Given the description of an element on the screen output the (x, y) to click on. 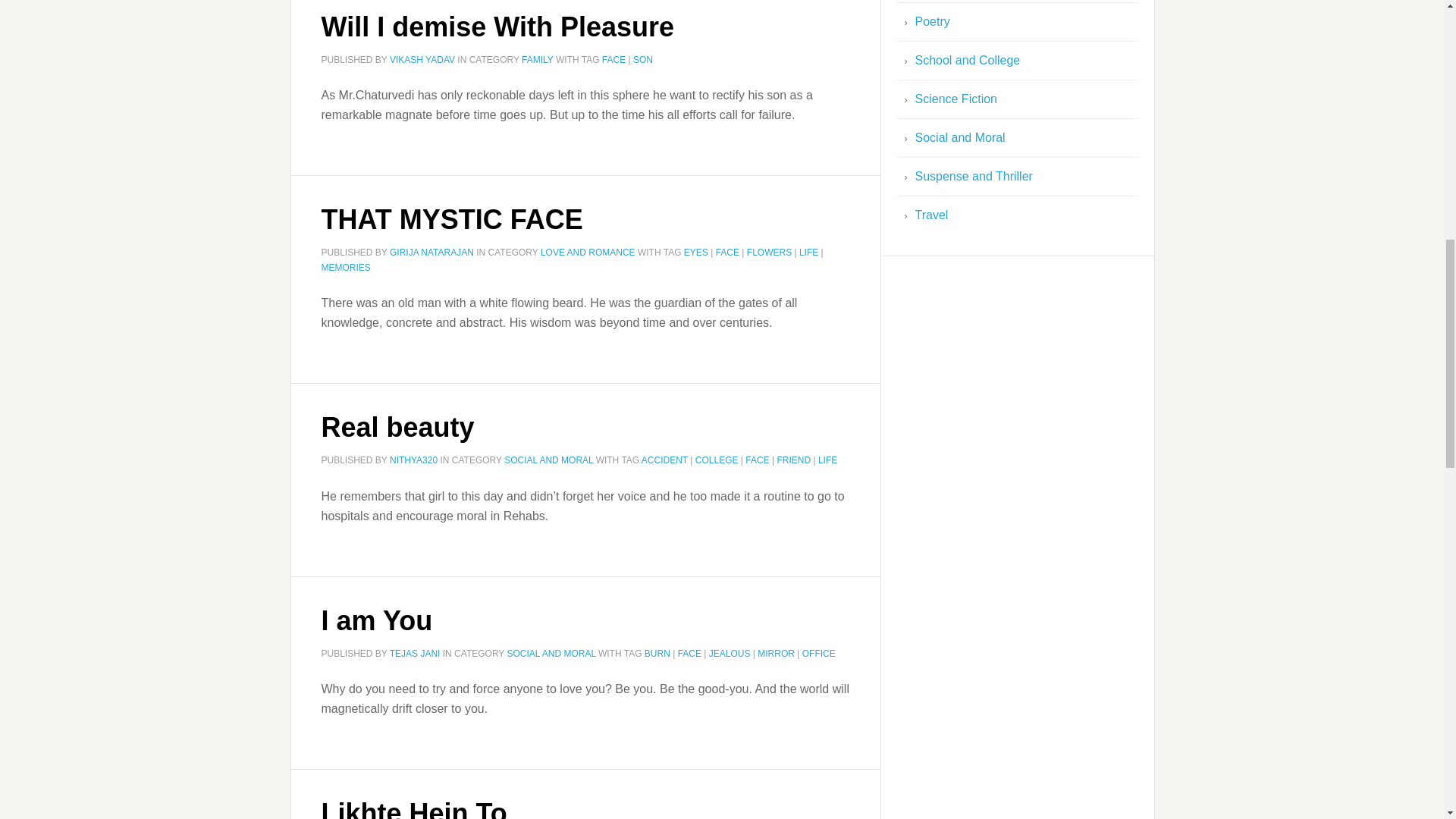
FLOWERS (769, 252)
SON (642, 59)
EYES (695, 252)
FACE (614, 59)
Will I demise With Pleasure (498, 26)
LIFE (808, 252)
FACE (727, 252)
THAT MYSTIC FACE (452, 219)
GIRIJA NATARAJAN (432, 252)
VIKASH YADAV (422, 59)
MEMORIES (346, 267)
FAMILY (537, 59)
LOVE AND ROMANCE (587, 252)
